Given the description of an element on the screen output the (x, y) to click on. 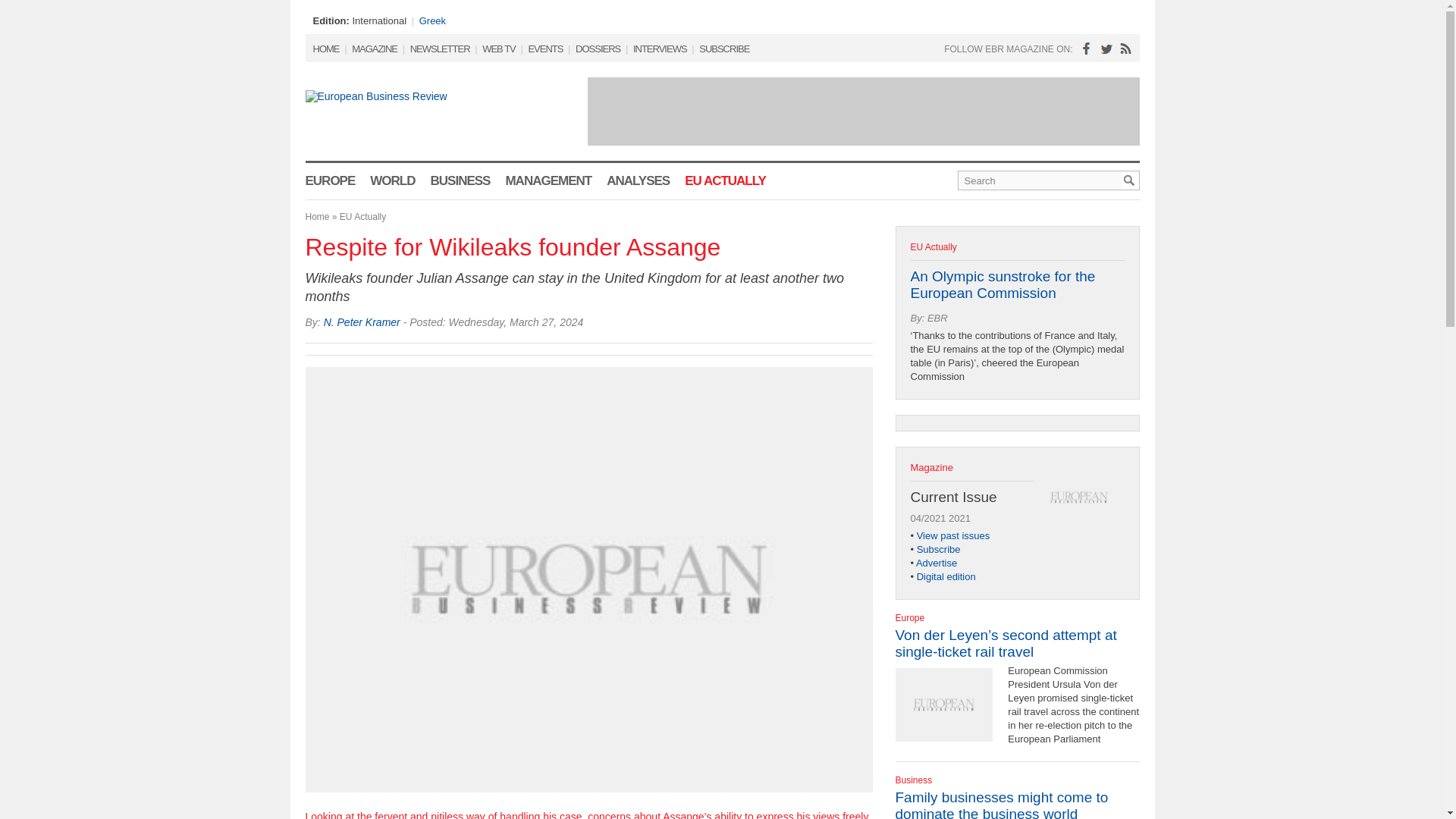
European Business Review - Home Page (410, 128)
Business (913, 758)
MAGAZINE (374, 48)
NEWSLETTER (440, 48)
BUSINESS (460, 180)
Analyses (638, 180)
European Business Review Greek edition (432, 20)
Management (548, 180)
Family businesses might come to dominate the business world (1001, 789)
Digital edition (946, 559)
